Given the description of an element on the screen output the (x, y) to click on. 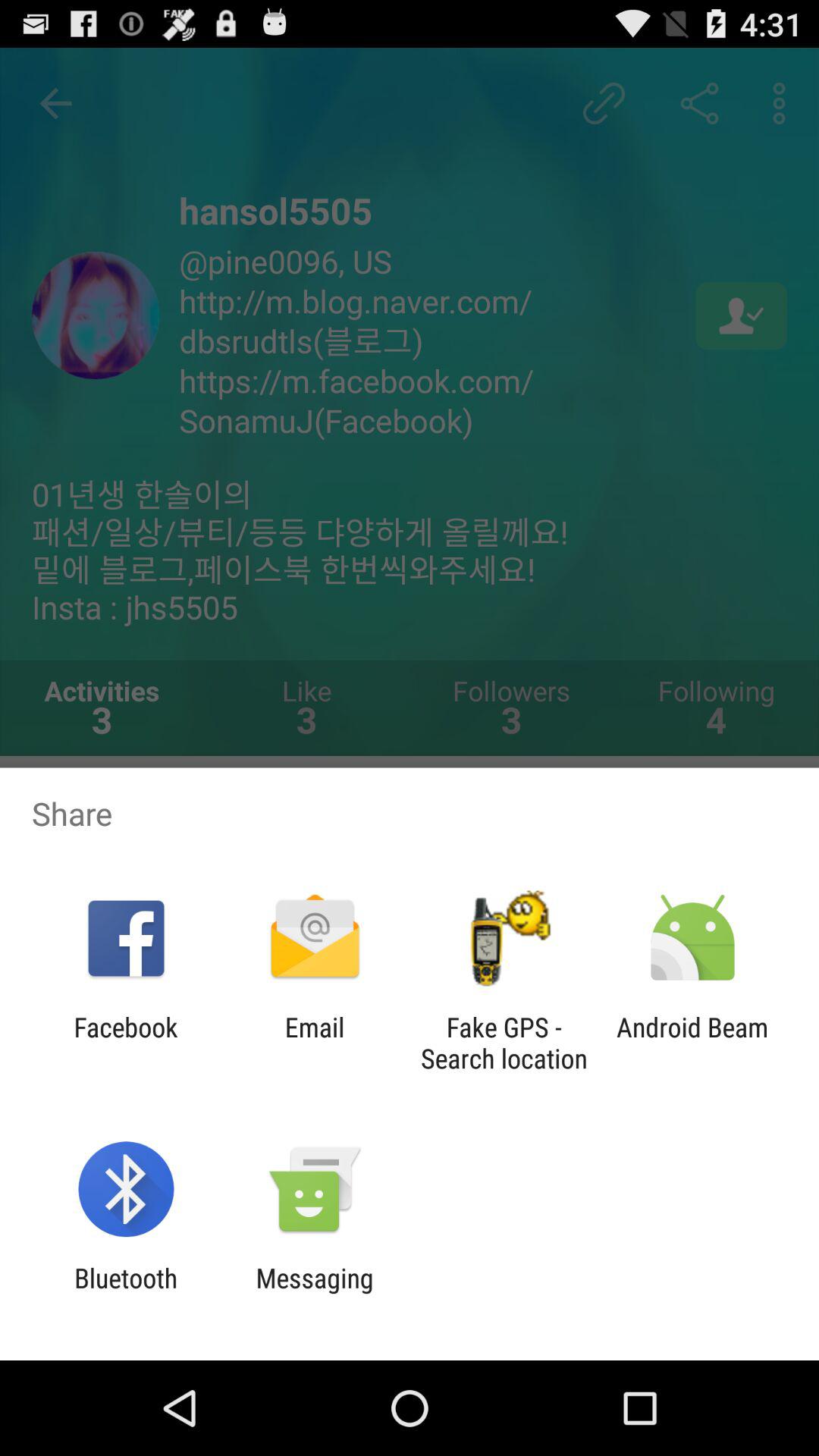
choose android beam at the bottom right corner (692, 1042)
